Given the description of an element on the screen output the (x, y) to click on. 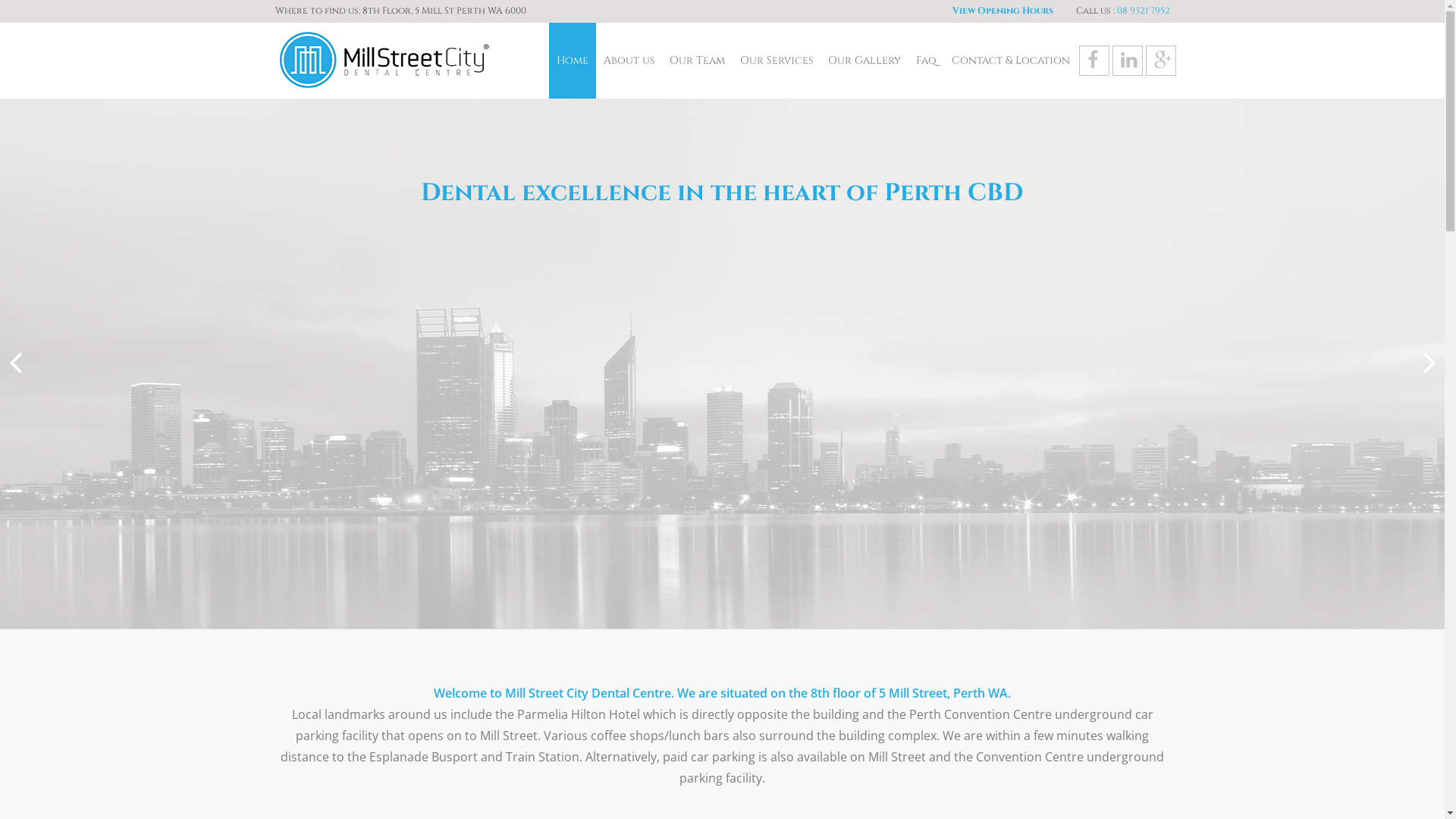
Home Element type: text (572, 60)
About us Element type: text (629, 60)
Faq Element type: text (926, 60)
Mill Street City Dental Centre Element type: hover (387, 59)
08 9321 7952 Element type: text (1142, 10)
Contact & Location Element type: text (1009, 60)
View Opening Hours Element type: text (1002, 10)
Our Team Element type: text (696, 60)
Our Services Element type: text (776, 60)
Our Gallery Element type: text (864, 60)
